Given the description of an element on the screen output the (x, y) to click on. 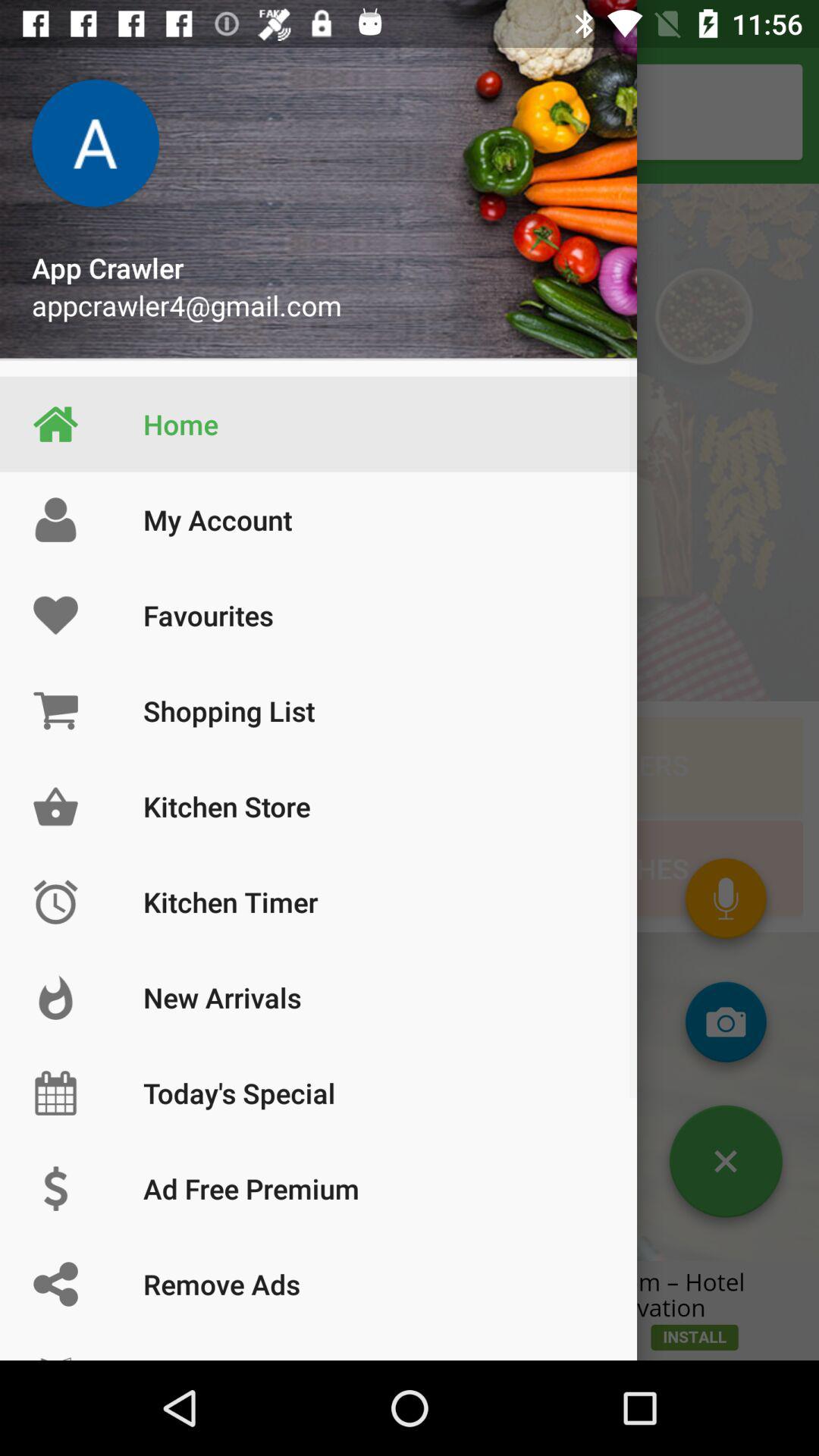
go to left of new arrivals (55, 997)
select the home button on the left corner of the page (55, 424)
click on the symbol which is left side of todays special (55, 1093)
